Given the description of an element on the screen output the (x, y) to click on. 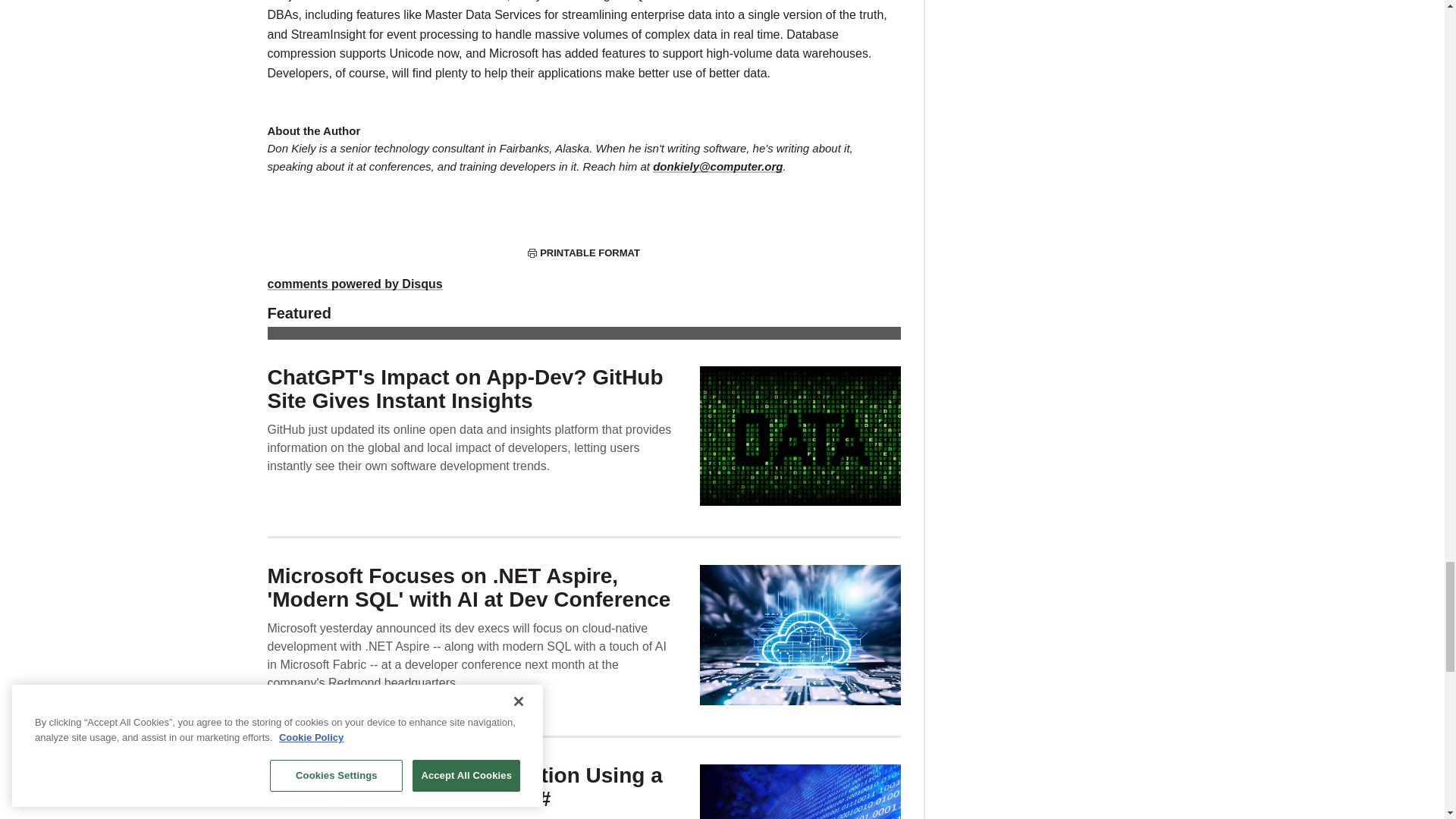
3rd party ad content (1059, 45)
